Given the description of an element on the screen output the (x, y) to click on. 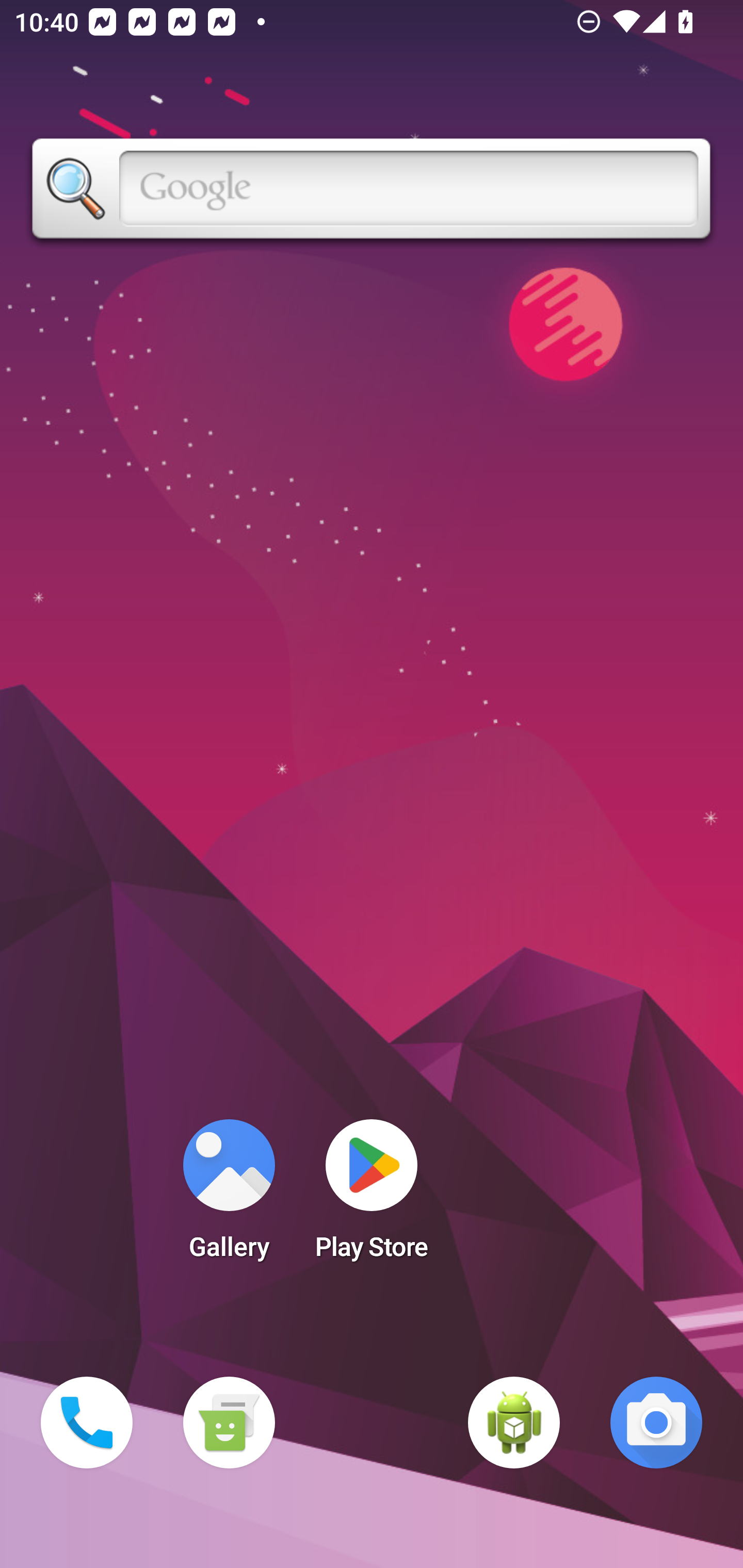
Gallery (228, 1195)
Play Store (371, 1195)
Phone (86, 1422)
Messaging (228, 1422)
WebView Browser Tester (513, 1422)
Camera (656, 1422)
